Given the description of an element on the screen output the (x, y) to click on. 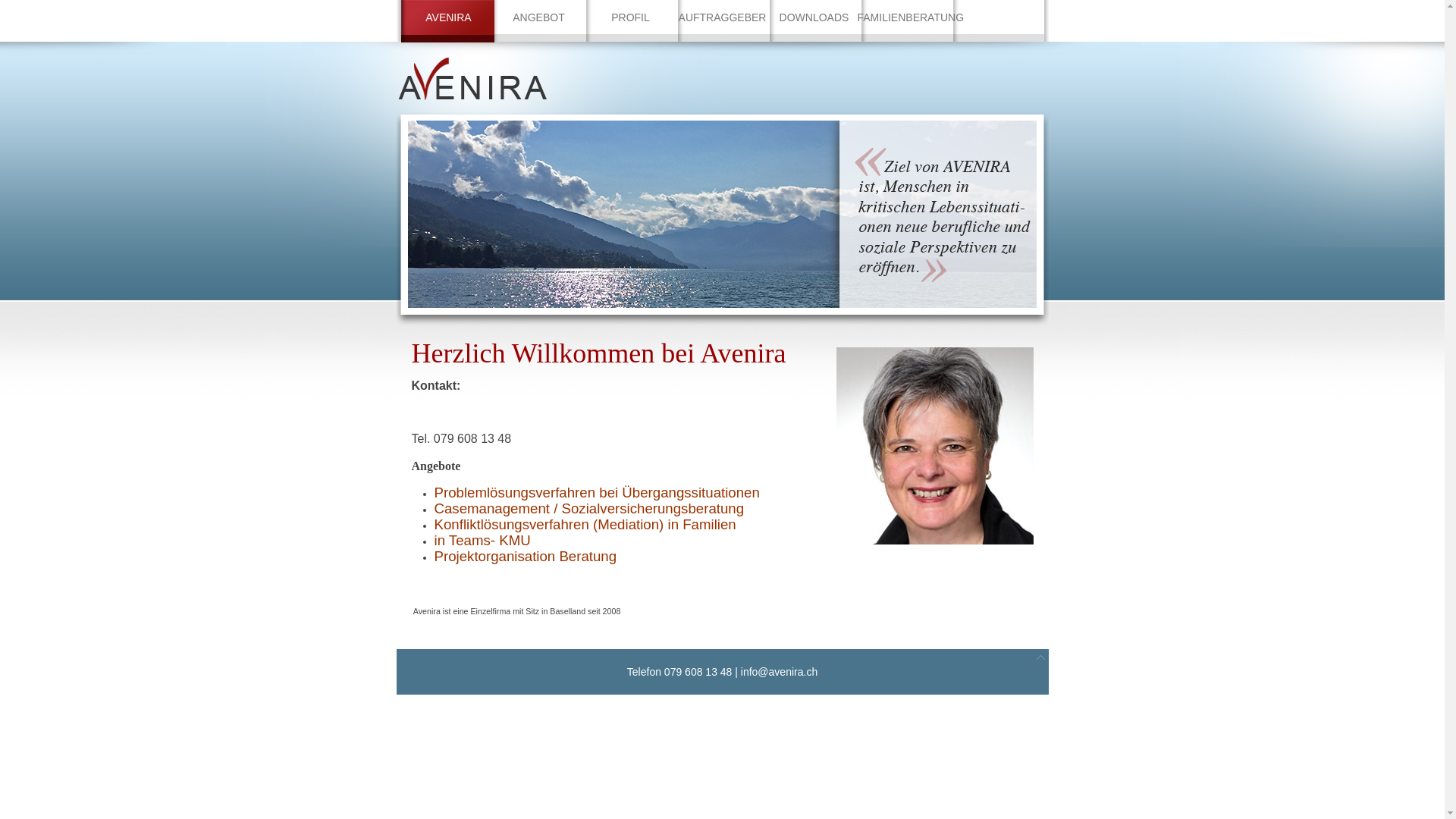
Irene Studer Dipl. Sozialarbeiterin FH Element type: hover (933, 445)
PROFIL Element type: text (630, 17)
AVENIRA Element type: text (447, 21)
Casemanagement Element type: text (491, 508)
DOWNLOADS Element type: text (813, 17)
FAMILIENBERATUNG Element type: text (904, 17)
AUFTRAGGEBER Element type: text (721, 17)
ANGEBOT Element type: text (537, 17)
info@avenira.ch Element type: text (778, 671)
